Given the description of an element on the screen output the (x, y) to click on. 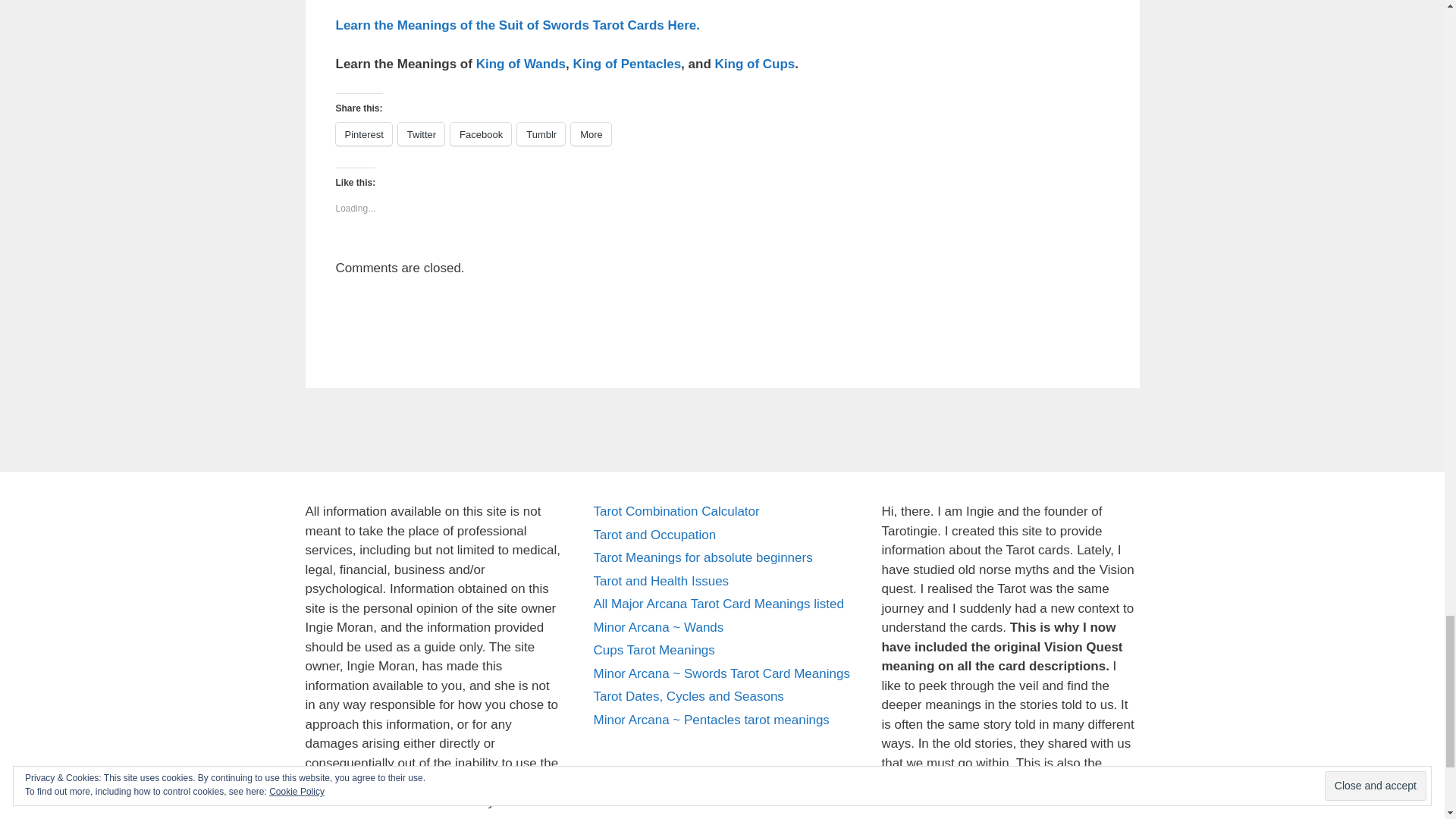
Click to share on Facebook (480, 133)
Click to share on Tumblr (540, 133)
King of Wands (521, 63)
King of Pentacles (626, 63)
Learn the Meanings of the Suit of Swords Tarot Cards Here. (516, 25)
Click to share on Pinterest (362, 133)
Click to share on Twitter (420, 133)
Pinterest (362, 133)
King of Cups (754, 63)
